Given the description of an element on the screen output the (x, y) to click on. 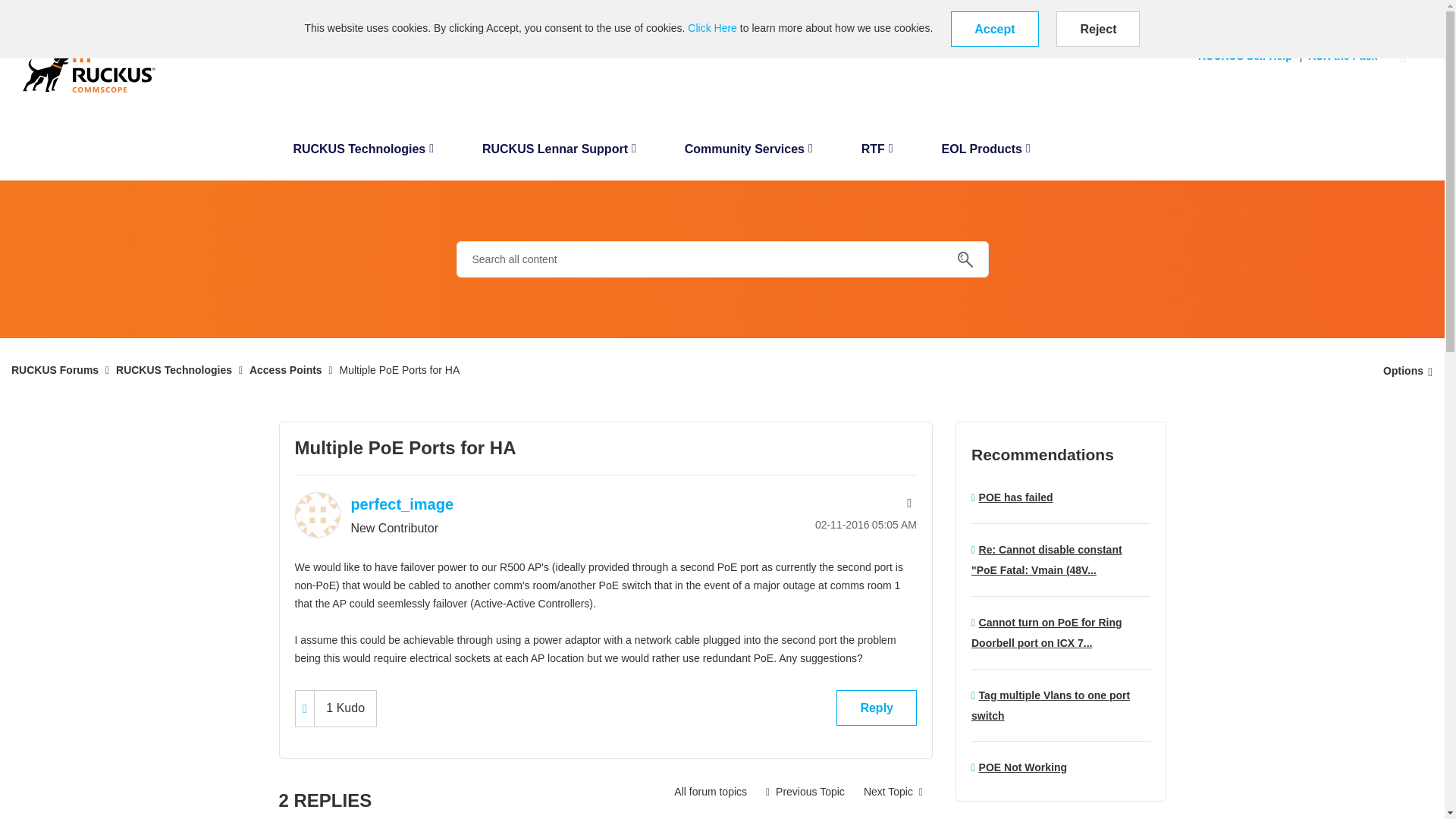
BACK TO SUPPORT PORTAL (74, 10)
RTF (876, 153)
Reject (1098, 28)
Access Points - Indoor and Outdoor (710, 791)
Accept (994, 28)
ASK the Pack (1345, 55)
RUCKUS Technologies (363, 153)
Community Services (748, 153)
Search (964, 258)
Click here to see who gave kudos to this post. (344, 708)
